Given the description of an element on the screen output the (x, y) to click on. 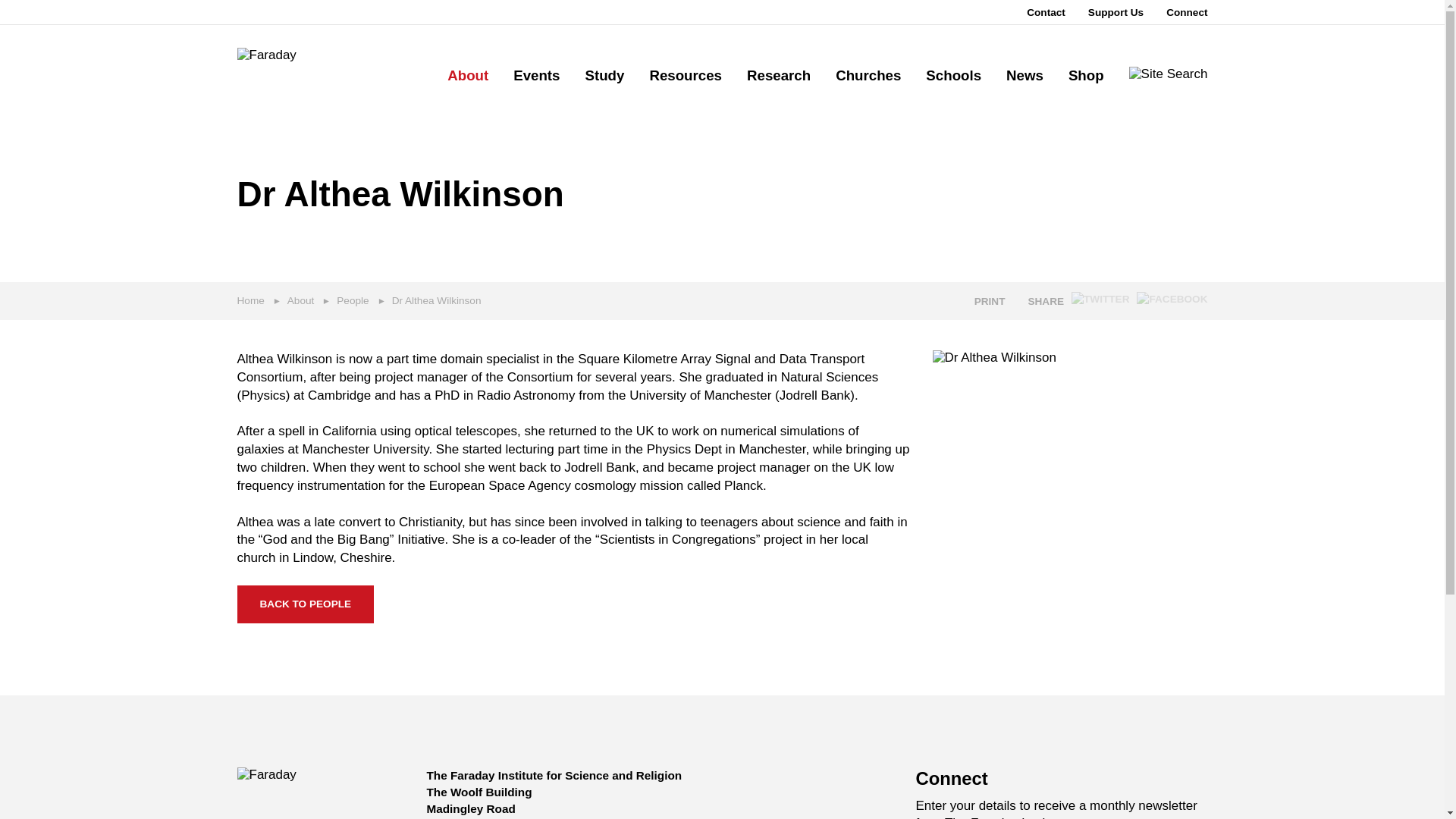
Study (604, 75)
Schools (953, 75)
Connect (1186, 12)
About (466, 75)
Contact (1045, 12)
Resources (685, 75)
Events (536, 75)
Support Us (1114, 12)
Churches (868, 75)
Research (778, 75)
